Given the description of an element on the screen output the (x, y) to click on. 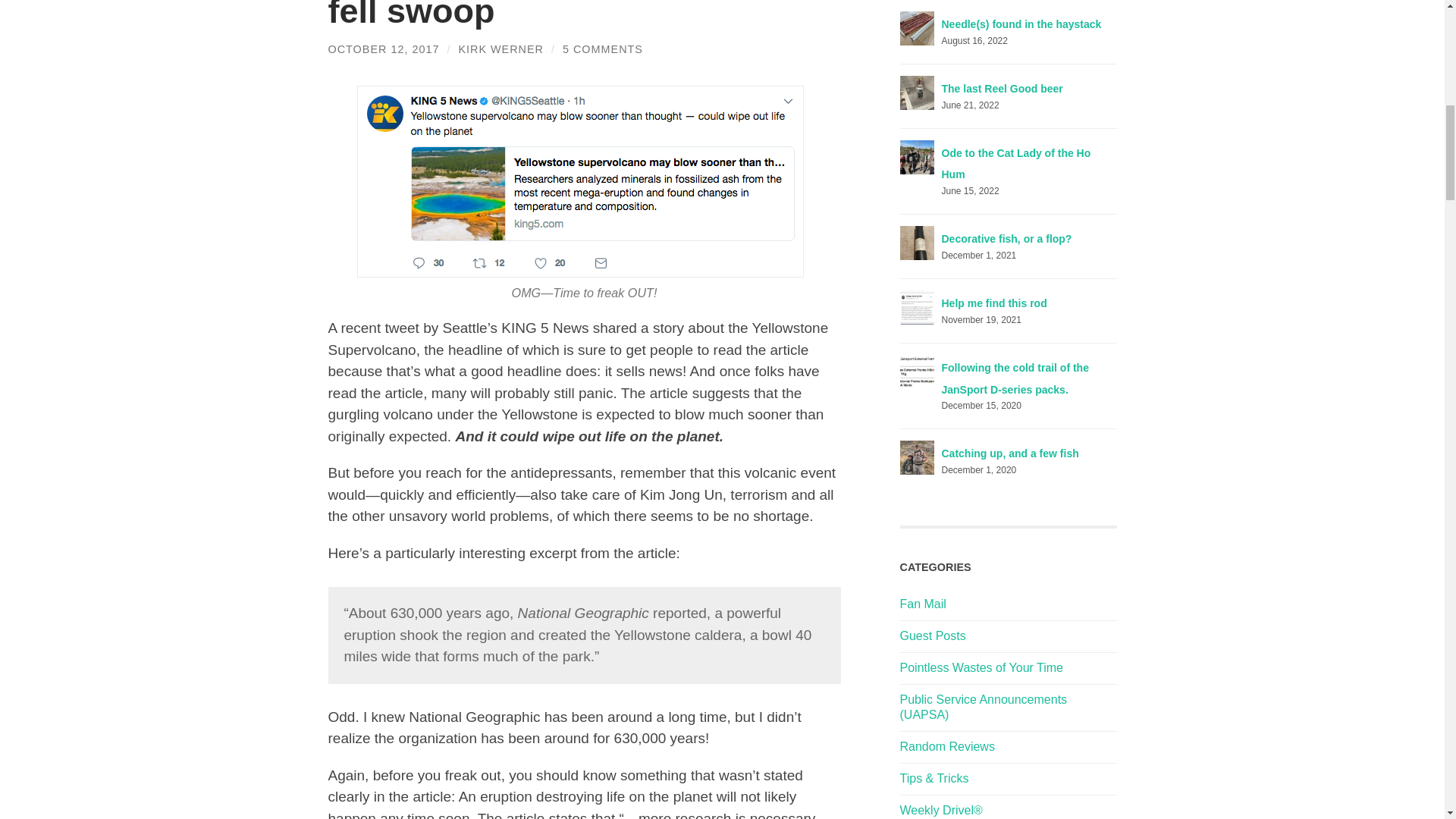
Permalink to Help me find this rod (994, 303)
Permalink to Catching up, and a few fish (1010, 453)
5 COMMENTS (602, 49)
Permalink to Ode to the Cat Lady of the Ho Hum (1016, 163)
Permalink to Decorative fish, or  a flop? (1006, 238)
Permalink to The last Reel Good beer (1002, 88)
Posts by Kirk Werner (500, 49)
KIRK WERNER (500, 49)
OCTOBER 12, 2017 (383, 49)
